Given the description of an element on the screen output the (x, y) to click on. 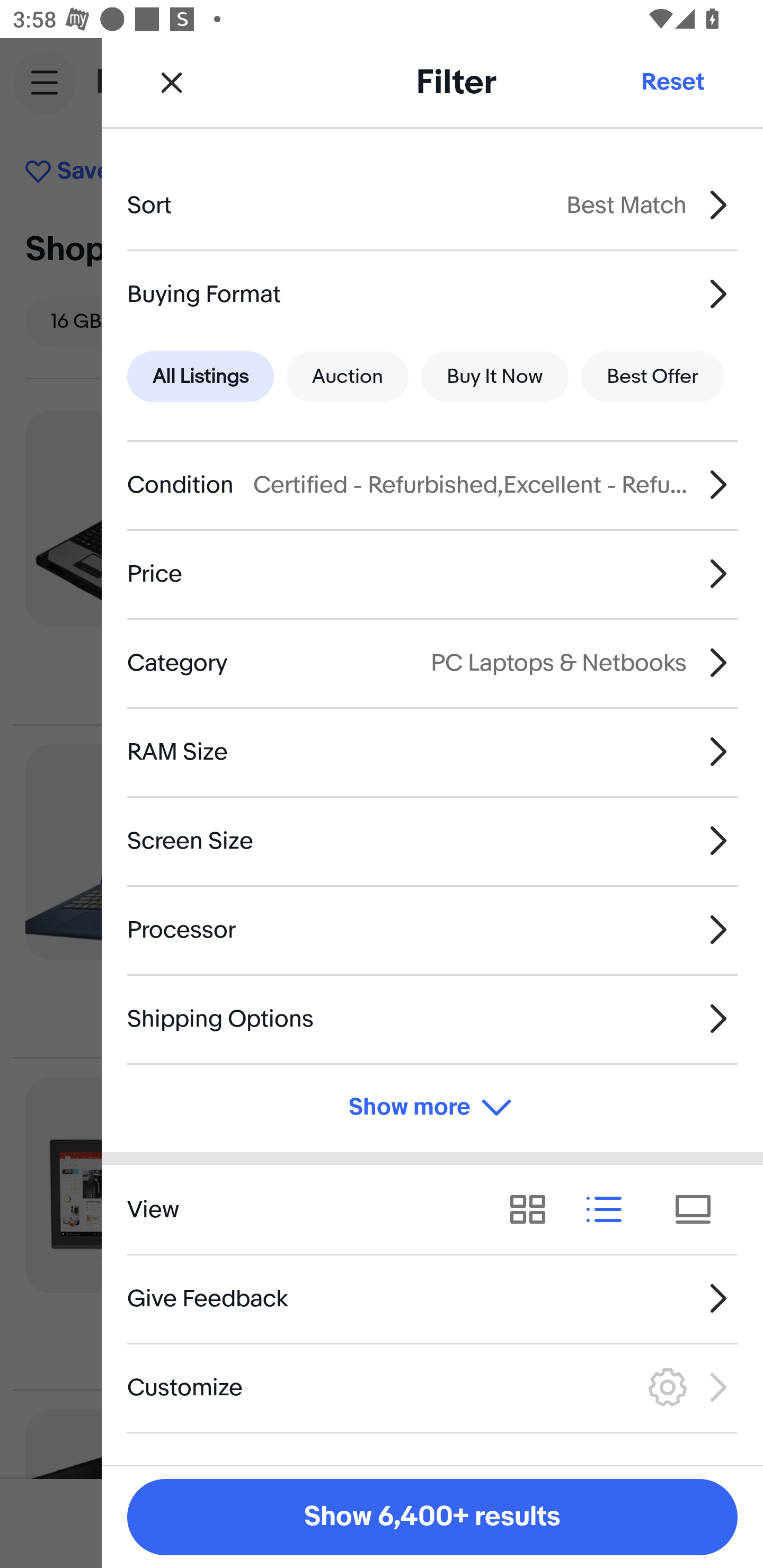
Close Filter (171, 81)
Reset (672, 81)
Buying Format (432, 293)
All Listings (200, 376)
Auction (347, 376)
Buy It Now (494, 376)
Best Offer (652, 376)
Price (432, 573)
Category PC Laptops & Netbooks (432, 662)
RAM Size (432, 751)
Screen Size (432, 840)
Processor (432, 929)
Shipping Options (432, 1018)
Show more (432, 1107)
View results as grid (533, 1209)
View results as list (610, 1209)
View results as tiles (699, 1209)
Customize (432, 1386)
Show 6,400+ results (432, 1516)
